Given the description of an element on the screen output the (x, y) to click on. 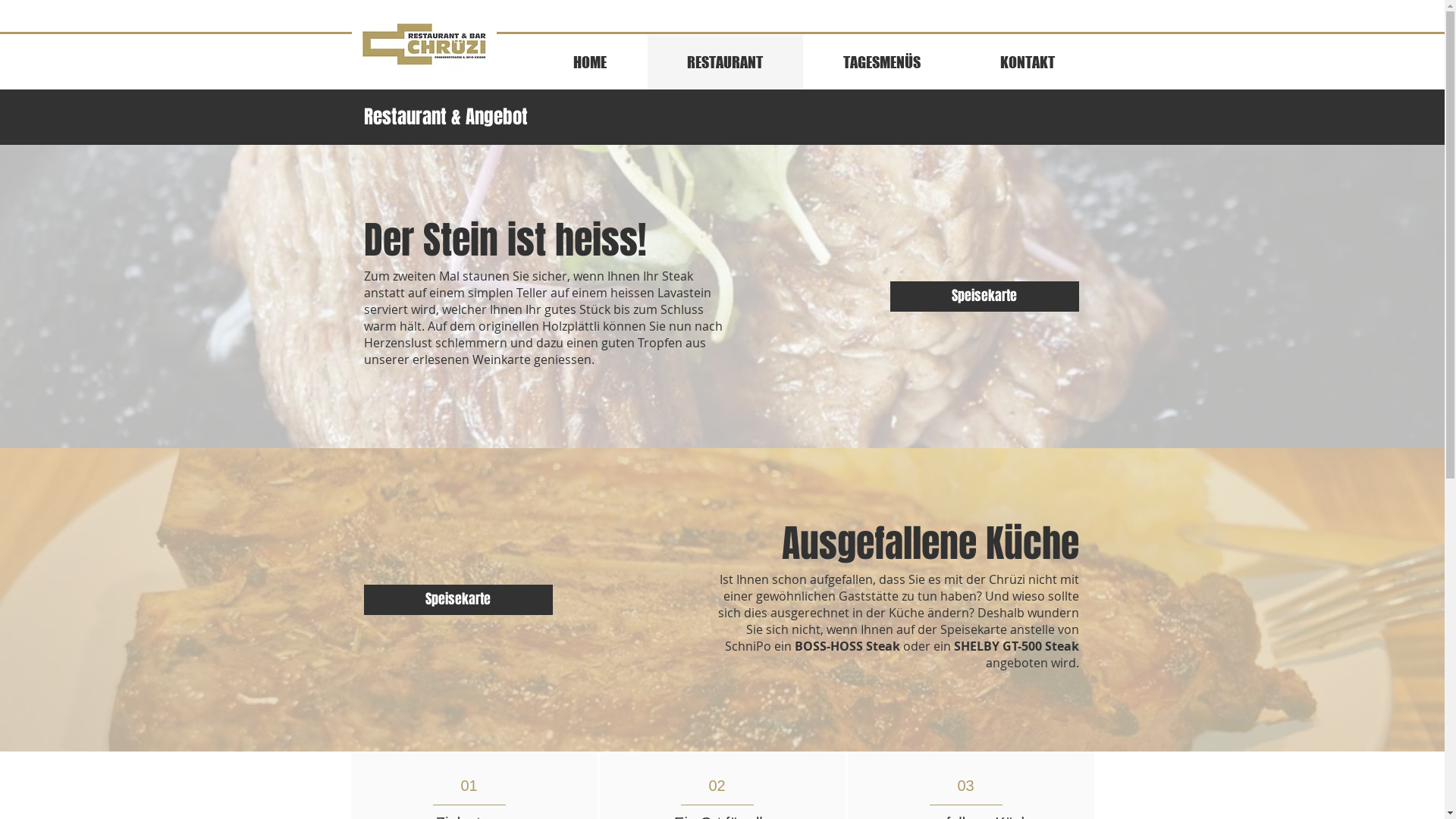
HOME Element type: text (589, 61)
Speisekarte Element type: text (458, 599)
RESTAURANT Element type: text (724, 61)
KONTAKT Element type: text (1027, 61)
Speisekarte Element type: text (984, 296)
